Given the description of an element on the screen output the (x, y) to click on. 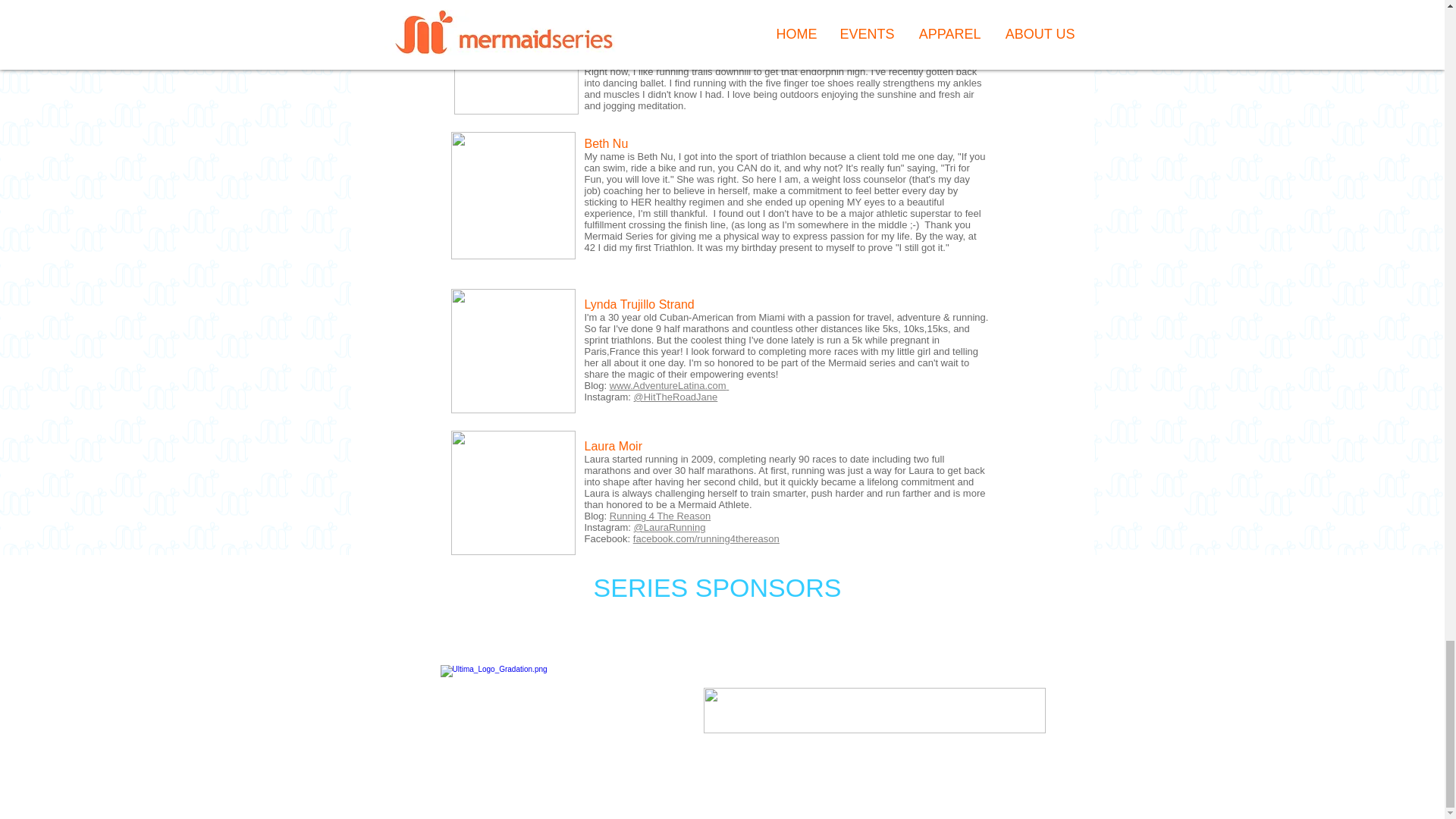
www.AdventureLatina.com (668, 385)
Running 4 The Reason (660, 515)
